Given the description of an element on the screen output the (x, y) to click on. 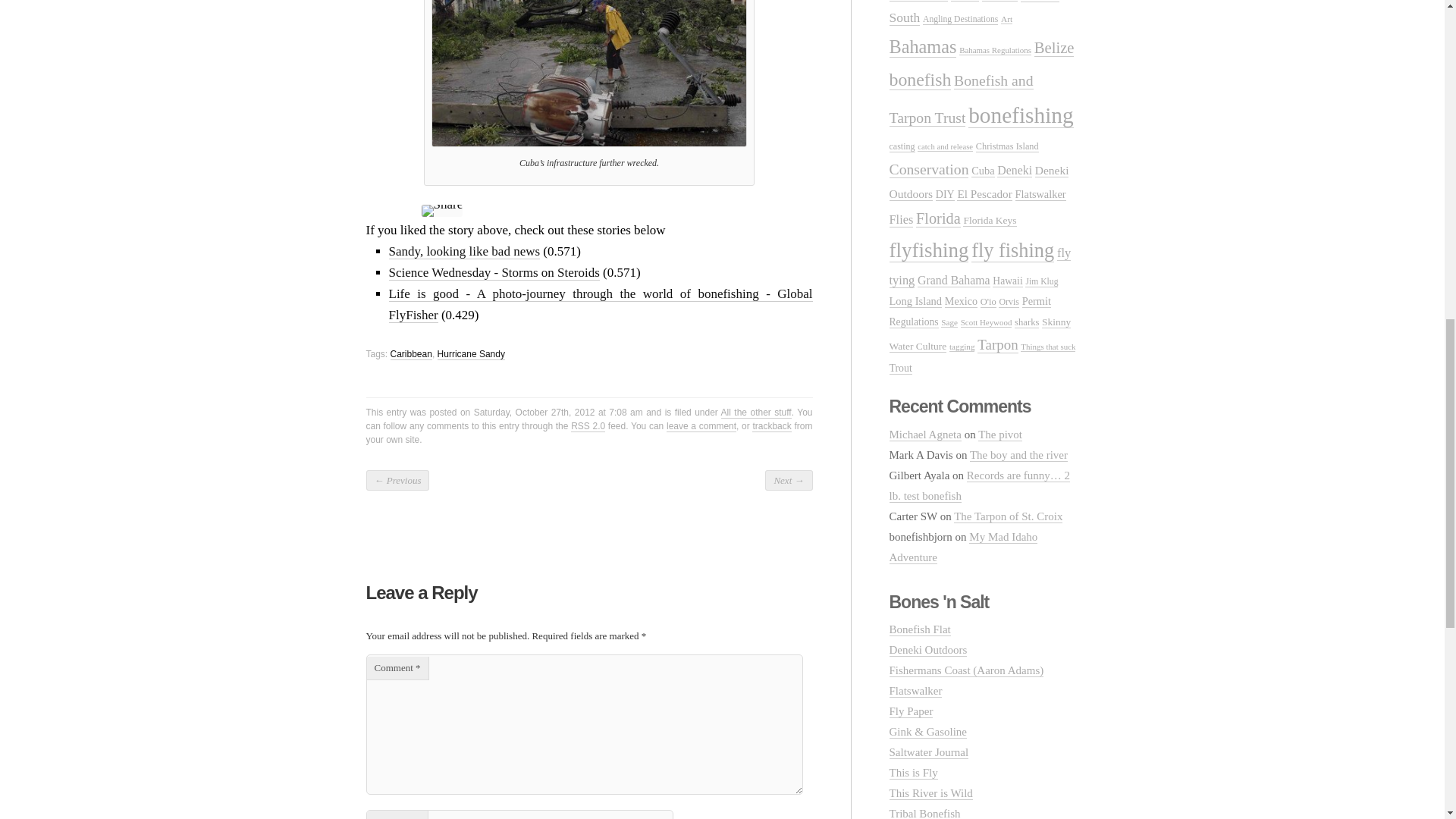
Hurricane Sandy (471, 354)
trackback (771, 426)
Caribbean (411, 354)
leave a comment (701, 426)
RSS 2.0 (587, 426)
Sandy, looking like bad news (464, 251)
Science Wednesday - Storms on Steroids (493, 272)
Cuba Sandy (588, 73)
All the other stuff (756, 412)
